Given the description of an element on the screen output the (x, y) to click on. 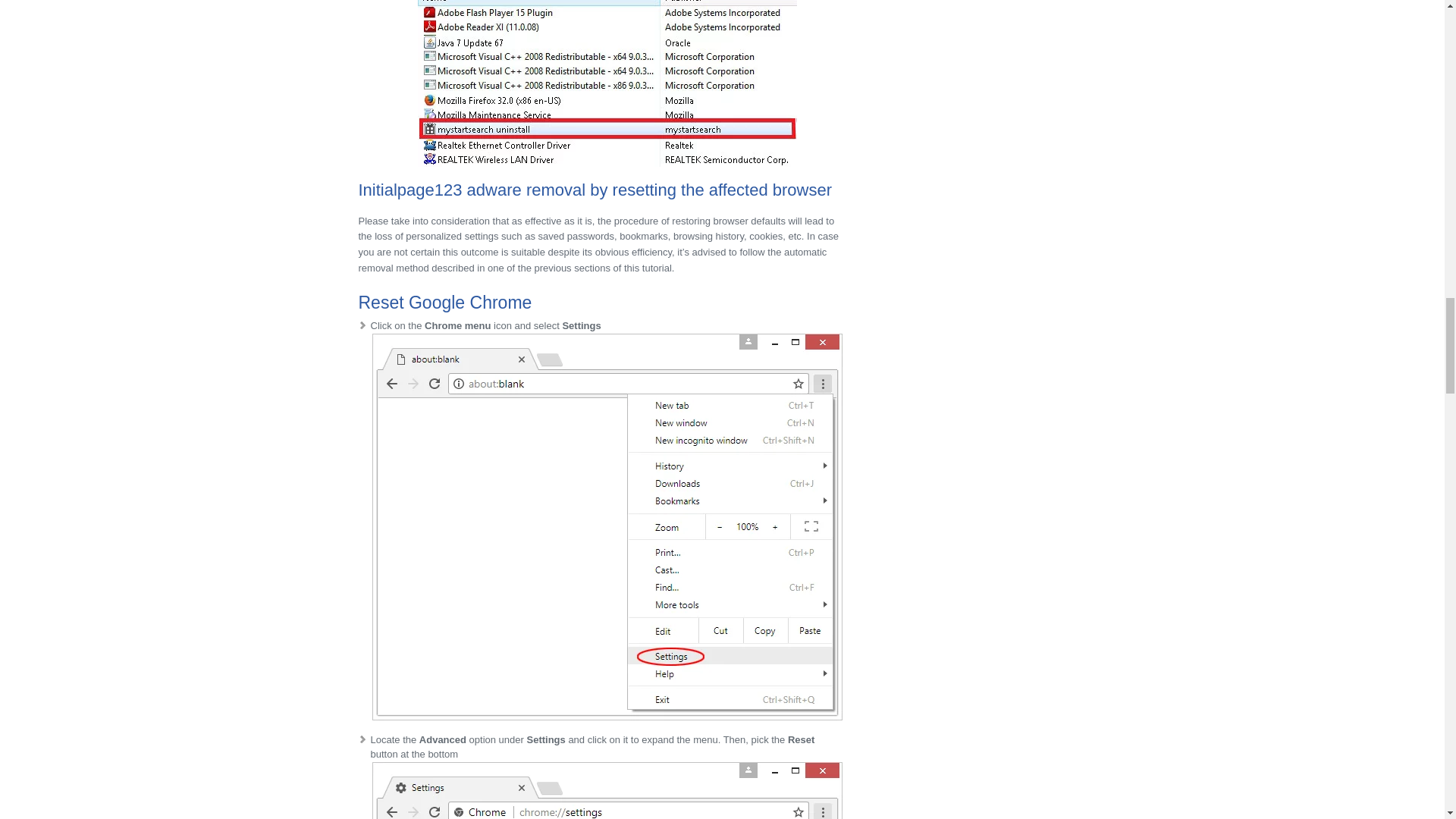
Click the Reset button (606, 790)
